Given the description of an element on the screen output the (x, y) to click on. 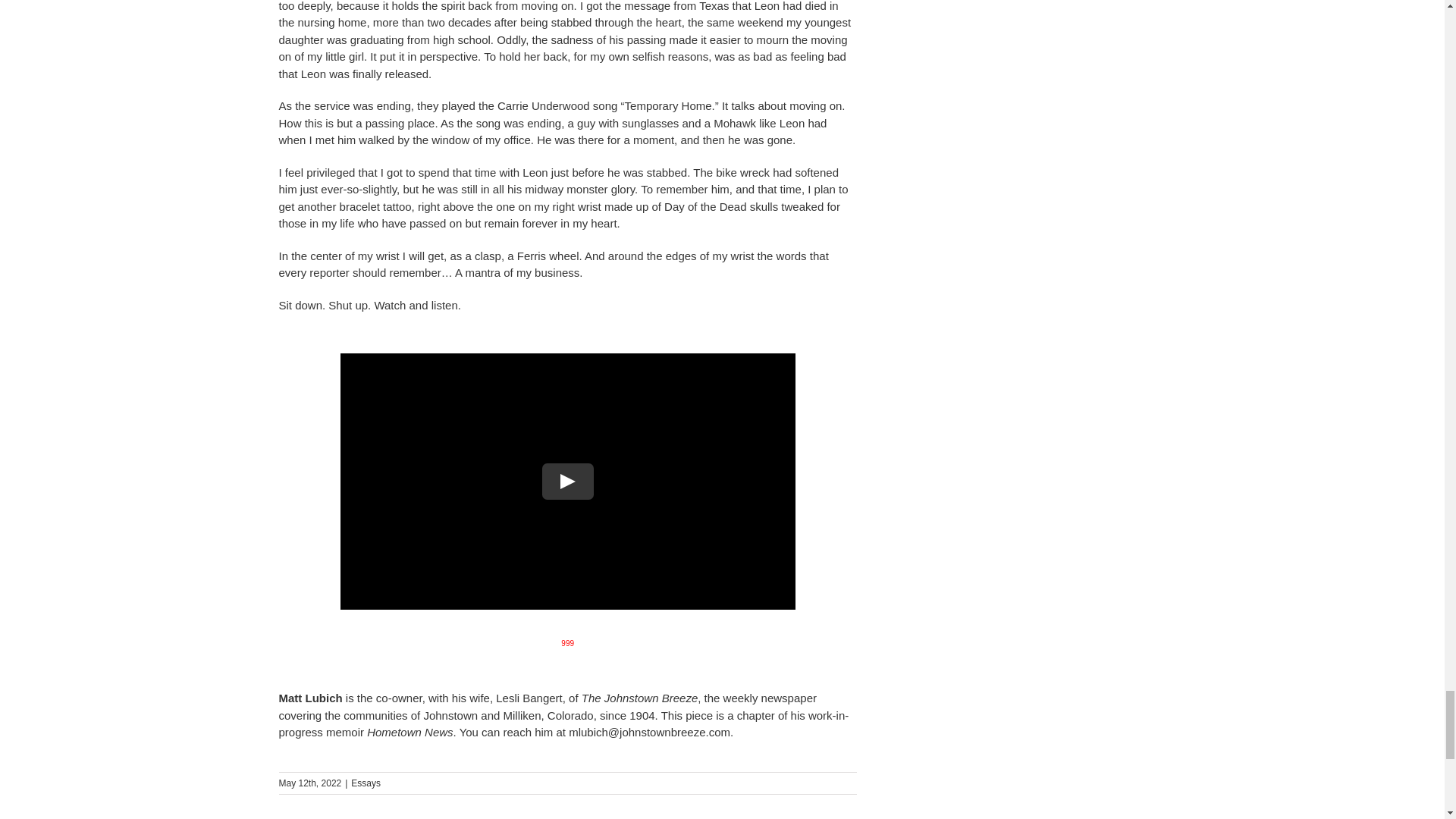
Matt Lubich (310, 697)
YouTube video player 1 (567, 480)
Essays (365, 783)
The Johnstown Breeze (638, 697)
Play (567, 481)
